Given the description of an element on the screen output the (x, y) to click on. 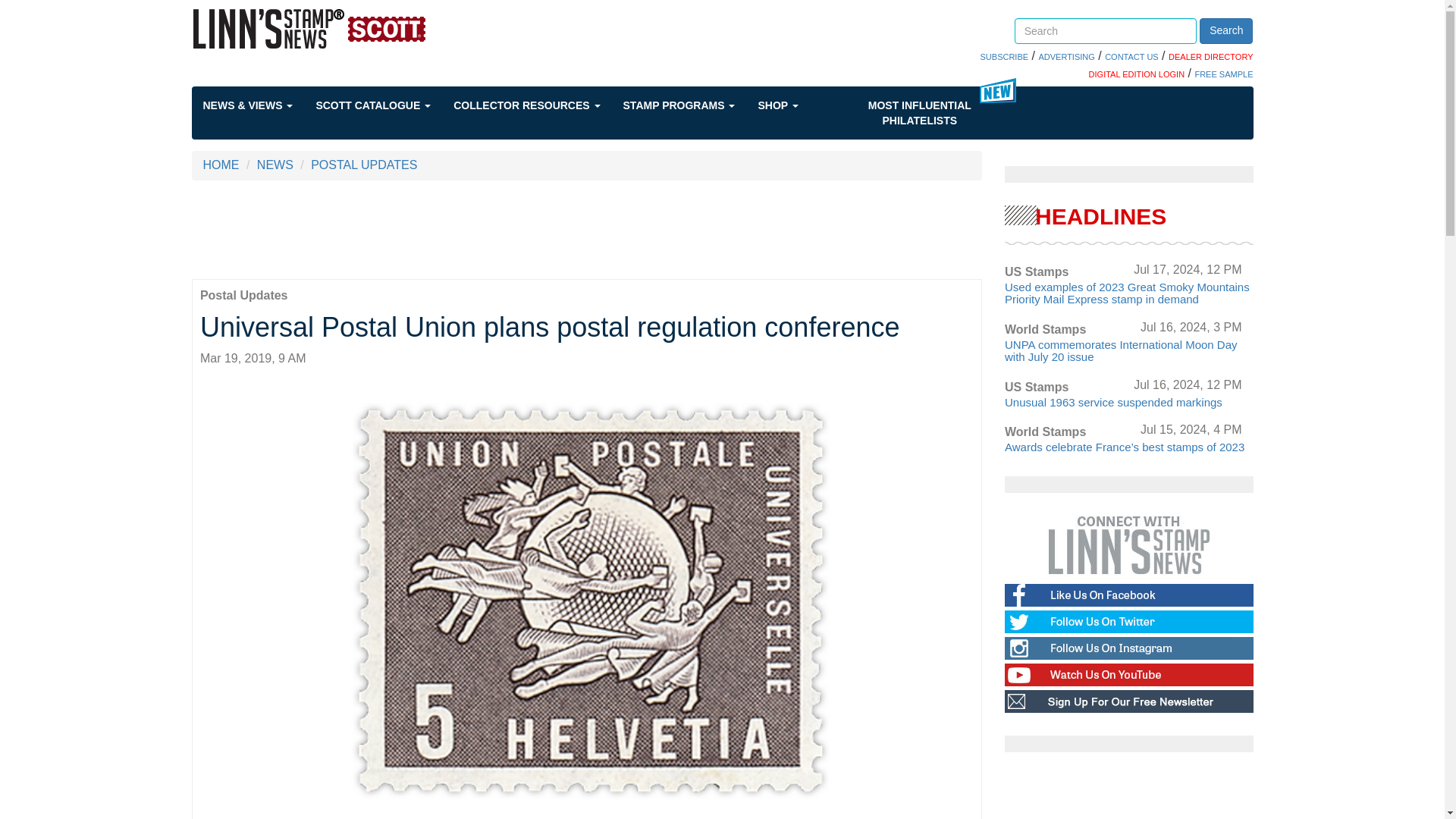
ADVERTISING (1066, 56)
DIGITAL EDITION LOGIN (1137, 73)
SCOTT CATALOGUE (383, 105)
Search (1225, 31)
Linn's Stamp News (352, 28)
CONTACT US (1131, 56)
FREE SAMPLE (1222, 73)
SUBSCRIBE (1004, 56)
COLLECTOR RESOURCES (537, 105)
Search input (1105, 31)
DEALER DIRECTORY (1210, 56)
